Given the description of an element on the screen output the (x, y) to click on. 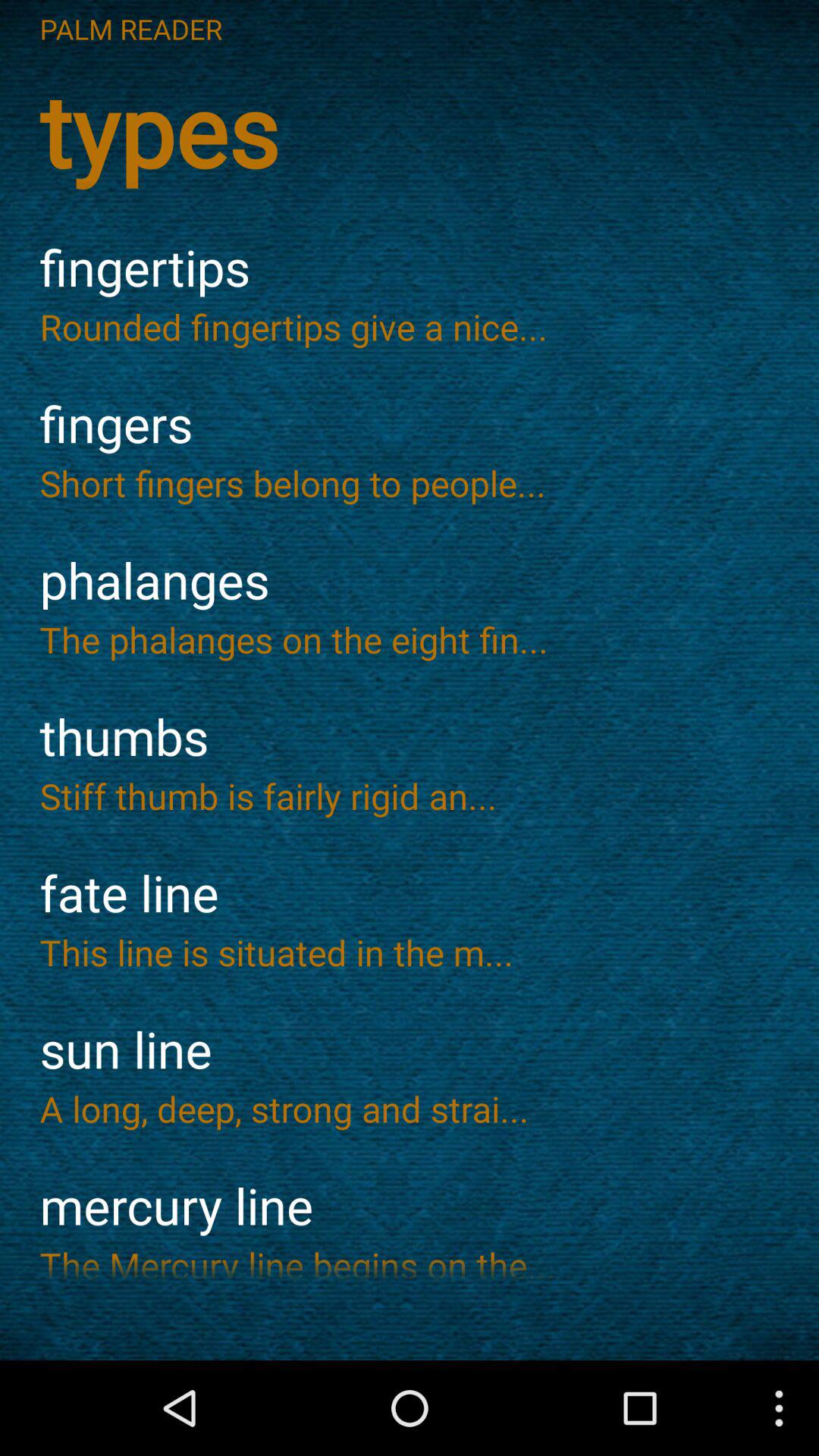
press the icon below the fate line (409, 952)
